Given the description of an element on the screen output the (x, y) to click on. 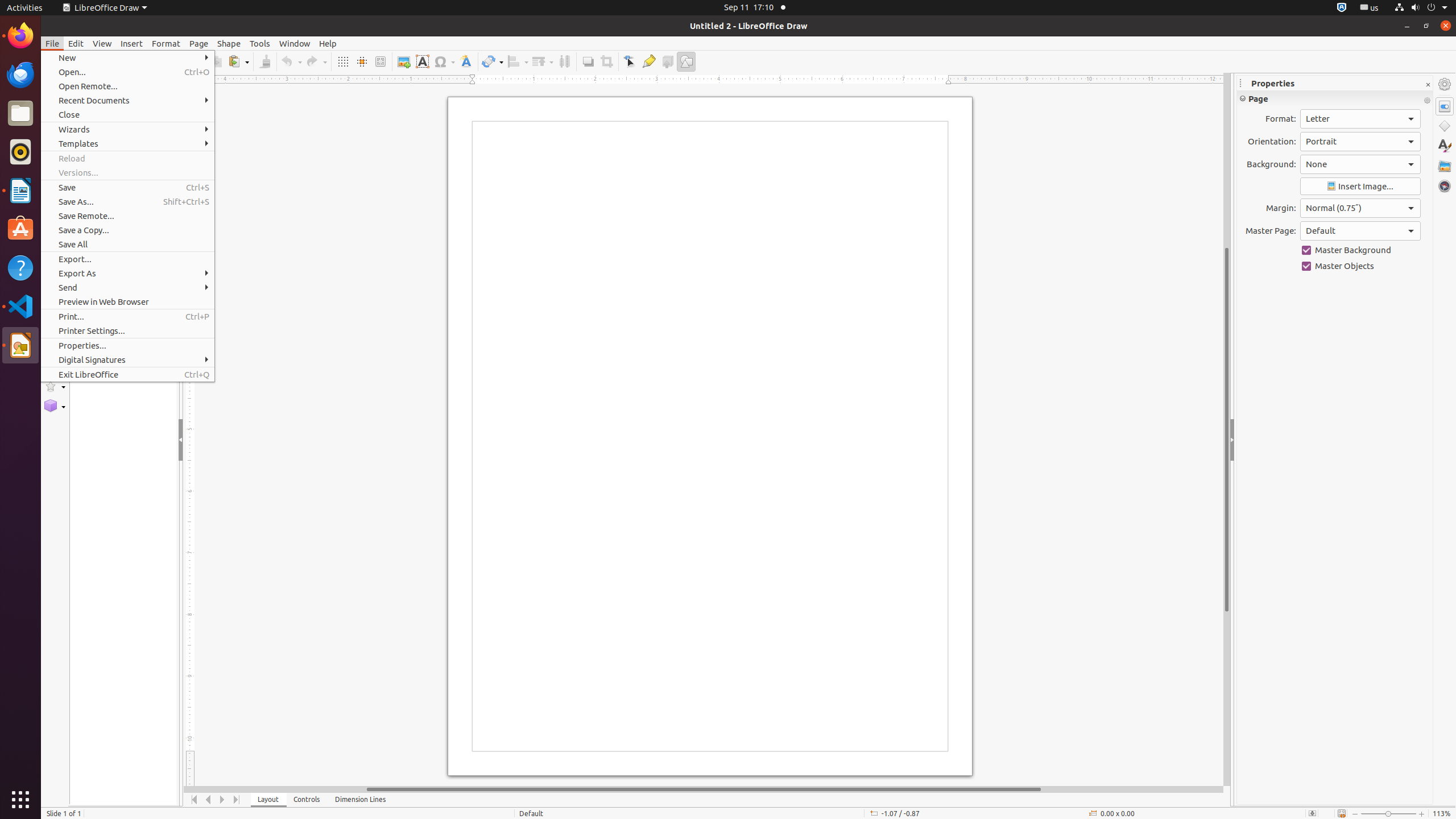
Reload Element type: menu-item (127, 158)
Transformations Element type: push-button (492, 61)
Undo Element type: push-button (290, 61)
LibreOffice Writer Element type: push-button (20, 190)
Send Element type: menu (127, 287)
